Given the description of an element on the screen output the (x, y) to click on. 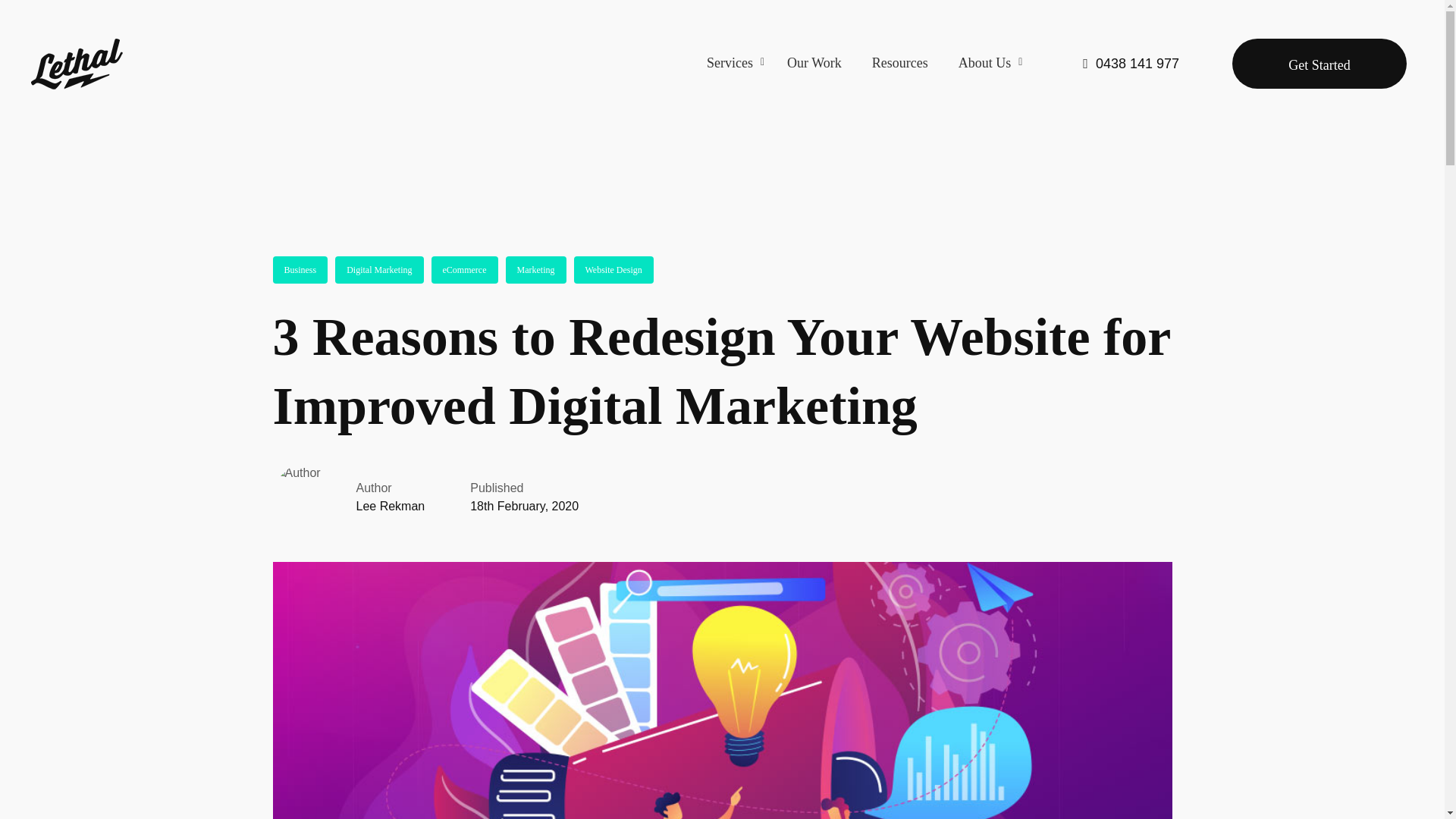
Services (738, 63)
Resources (900, 63)
Our Work (814, 63)
About Us (986, 63)
0438 141 977 (867, 63)
Get Started (1131, 63)
